Given the description of an element on the screen output the (x, y) to click on. 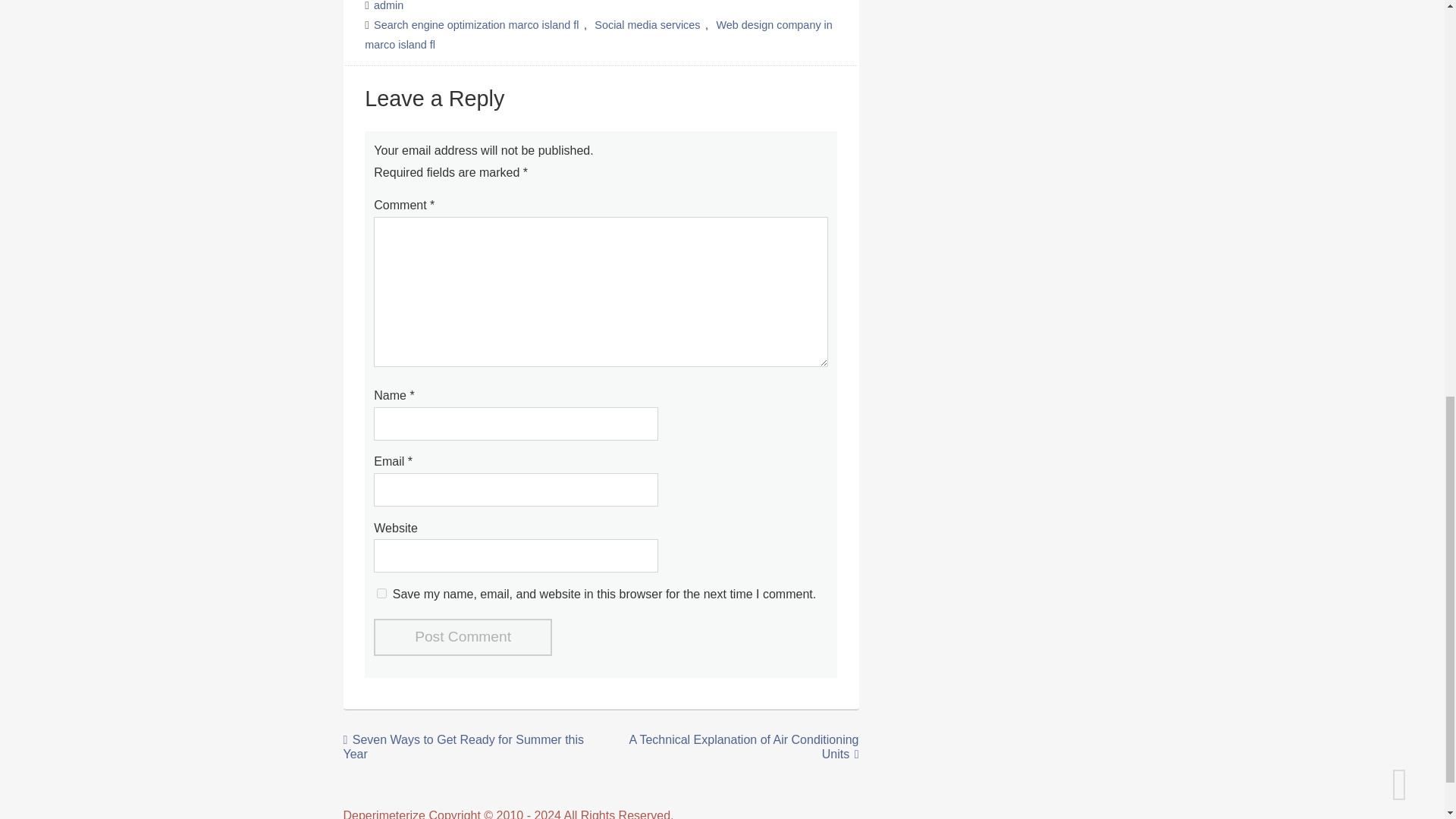
A Technical Explanation of Air Conditioning Units (743, 746)
Web design company in marco island fl (598, 34)
yes (382, 593)
Social media services (646, 24)
Post Comment (462, 637)
admin (389, 5)
Post Comment (462, 637)
Search engine optimization marco island fl (476, 24)
Seven Ways to Get Ready for Summer this Year (462, 746)
Deperimeterize (383, 814)
